Given the description of an element on the screen output the (x, y) to click on. 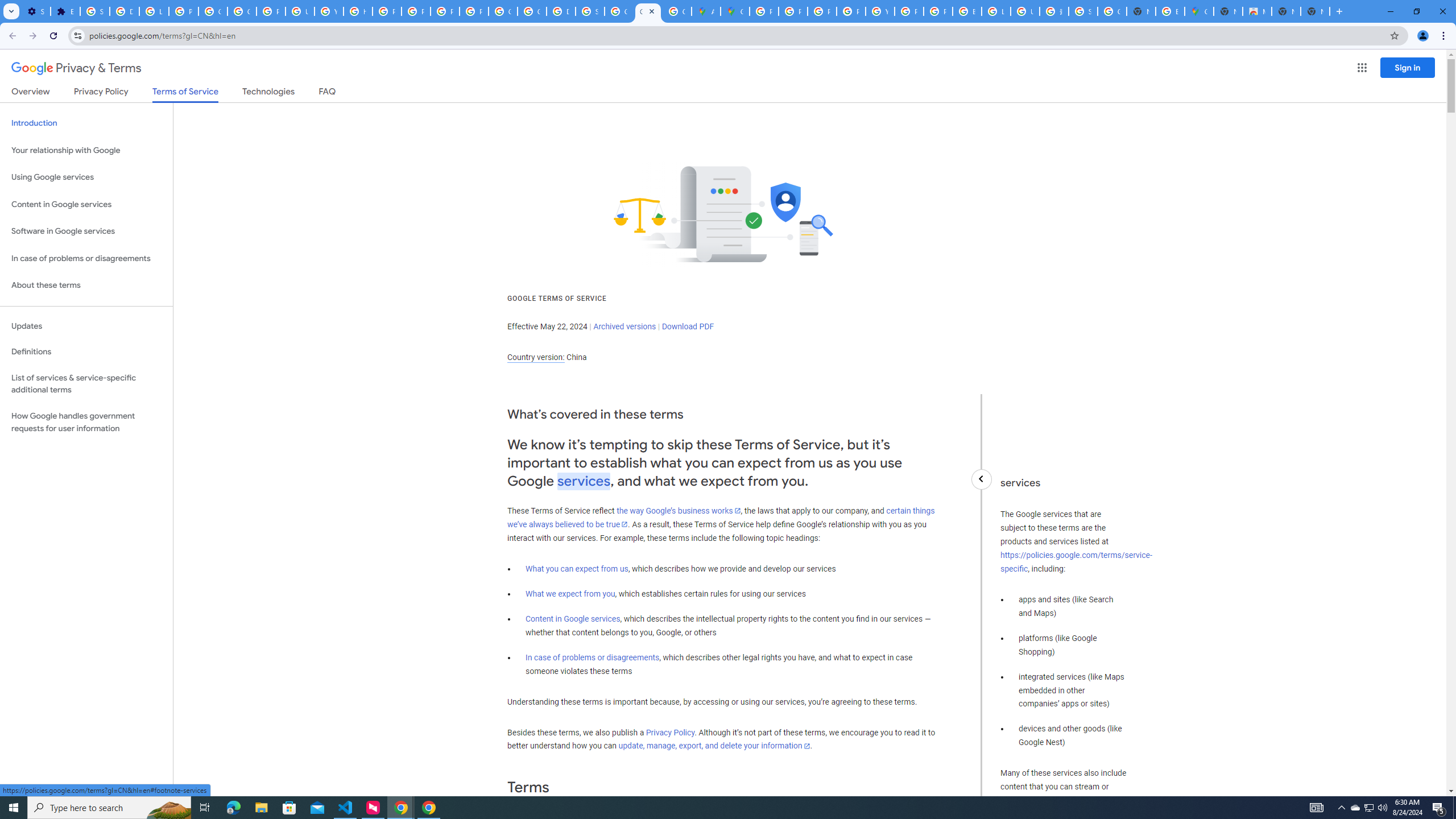
Country version: (535, 357)
What you can expect from us (576, 568)
Google Maps (734, 11)
